Given the description of an element on the screen output the (x, y) to click on. 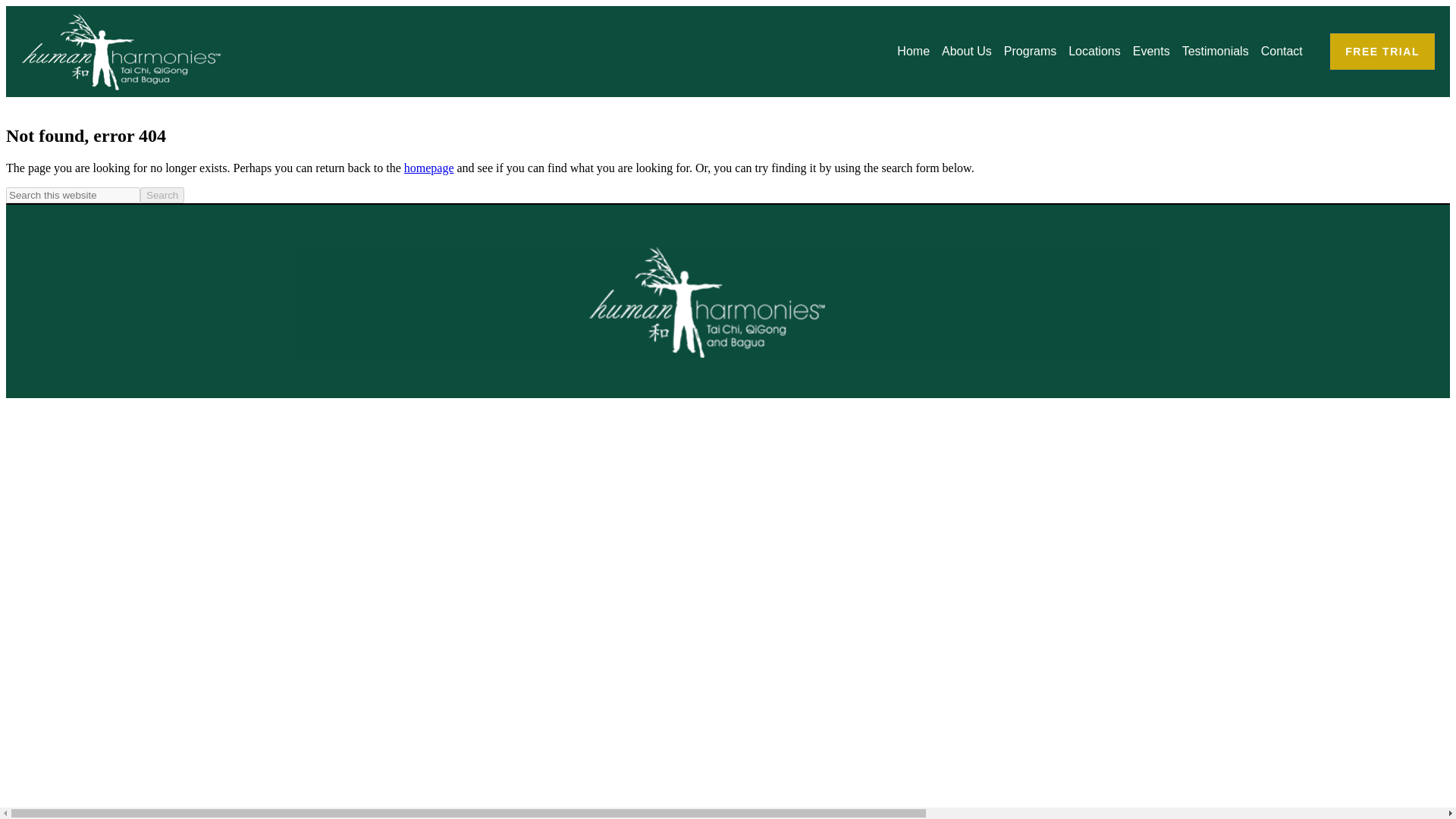
homepage (429, 167)
Programs (1029, 51)
Events (1150, 51)
Search (161, 195)
FREE TRIAL (1382, 51)
Home (912, 51)
Locations (1093, 51)
Testimonials (1214, 51)
Search (161, 195)
About Us (966, 51)
